Given the description of an element on the screen output the (x, y) to click on. 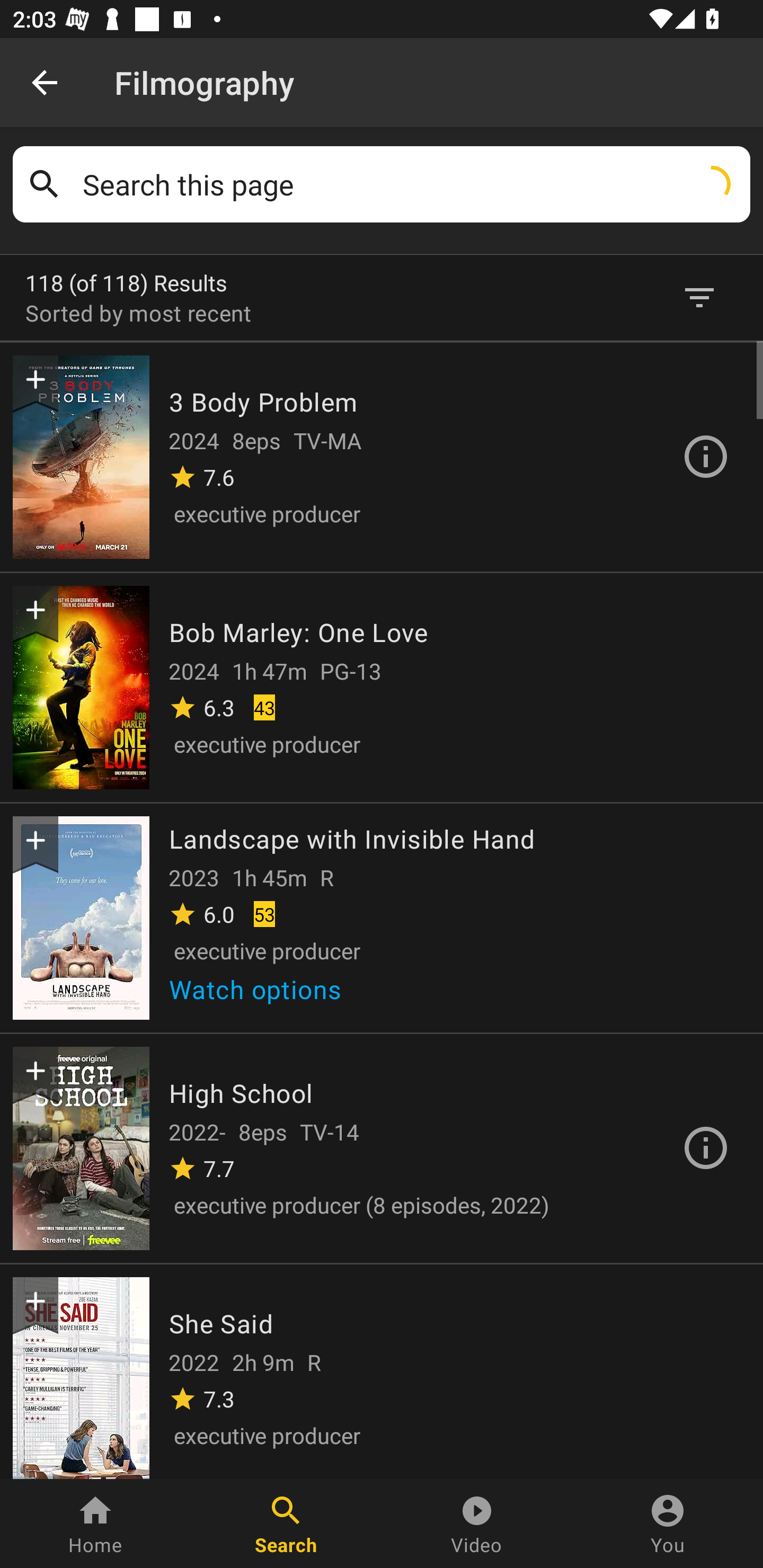
Search this page (410, 184)
Watch options (261, 995)
She Said 2022 2h 9m R 7.3  executive producer (381, 1370)
Home (95, 1523)
Video (476, 1523)
You (667, 1523)
